Given the description of an element on the screen output the (x, y) to click on. 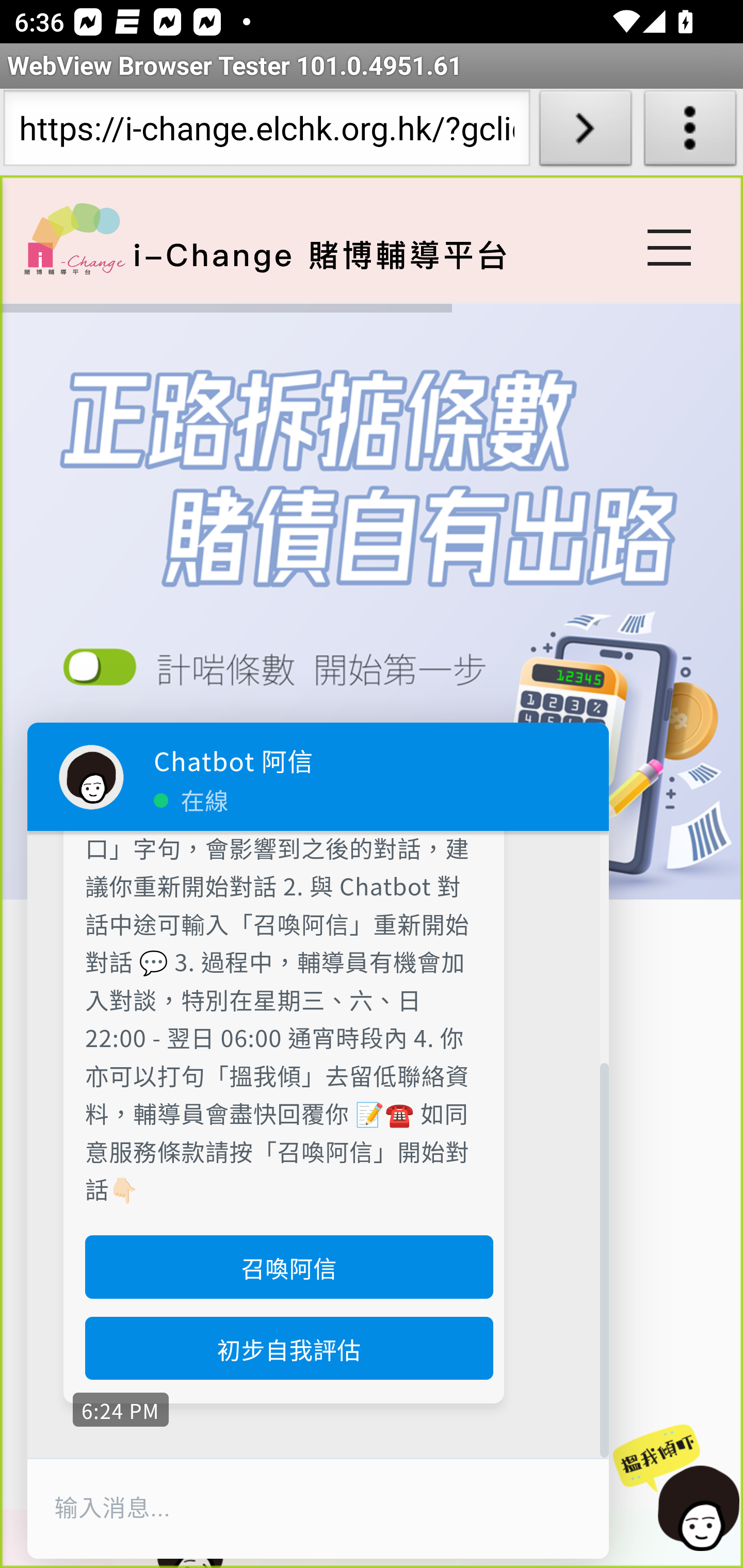
Load URL (585, 132)
About WebView (690, 132)
Home (74, 238)
查閱私隱政策 (283, 674)
Chat Now (676, 1488)
